Given the description of an element on the screen output the (x, y) to click on. 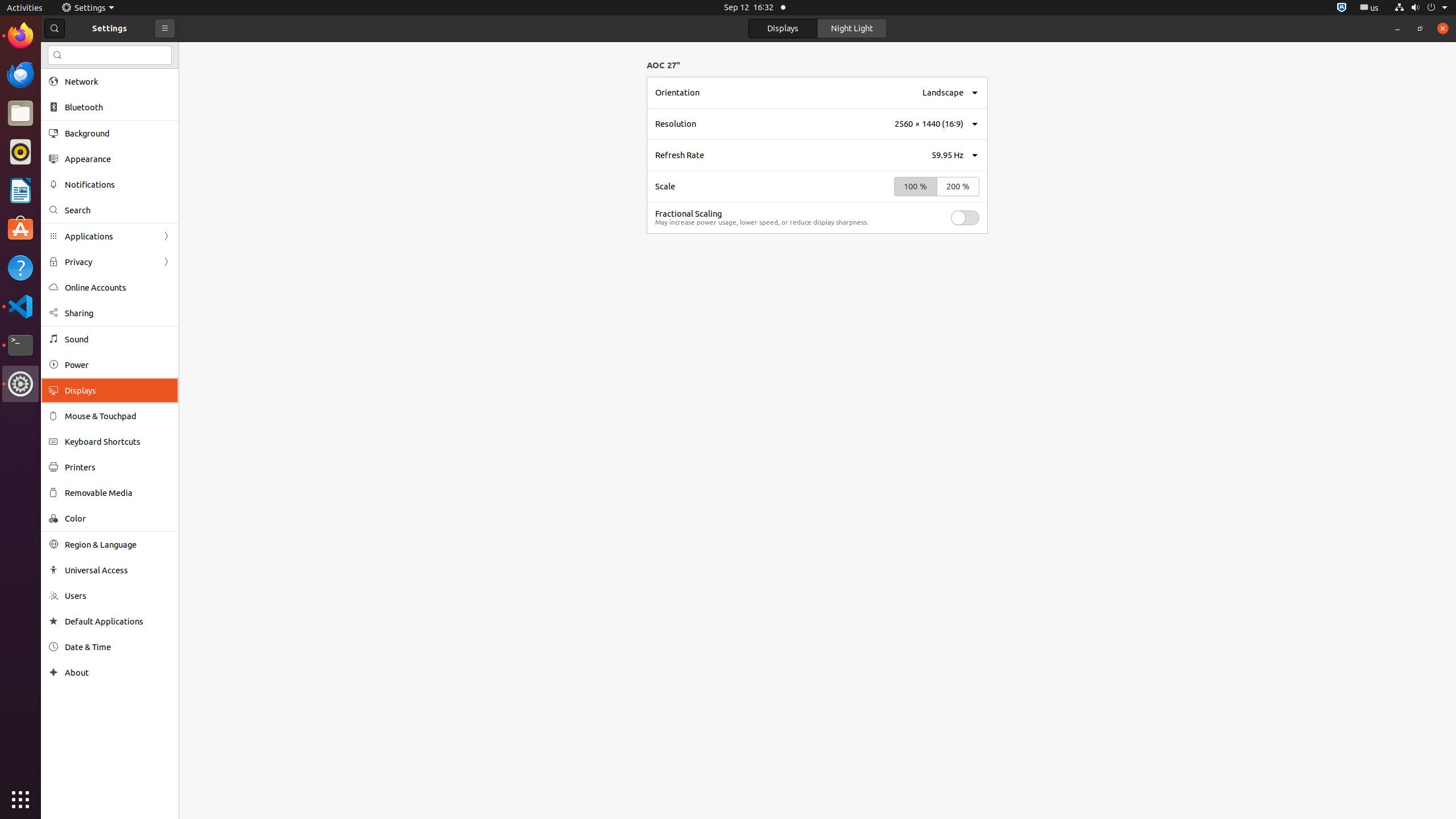
Resolution Element type: label (675, 123)
May increase power usage, lower speed, or reduce display sharpness. Element type: label (761, 222)
IsaHelpMain.desktop Element type: label (75, 170)
Keyboard Shortcuts Element type: label (117, 441)
Sound Element type: label (117, 339)
